Given the description of an element on the screen output the (x, y) to click on. 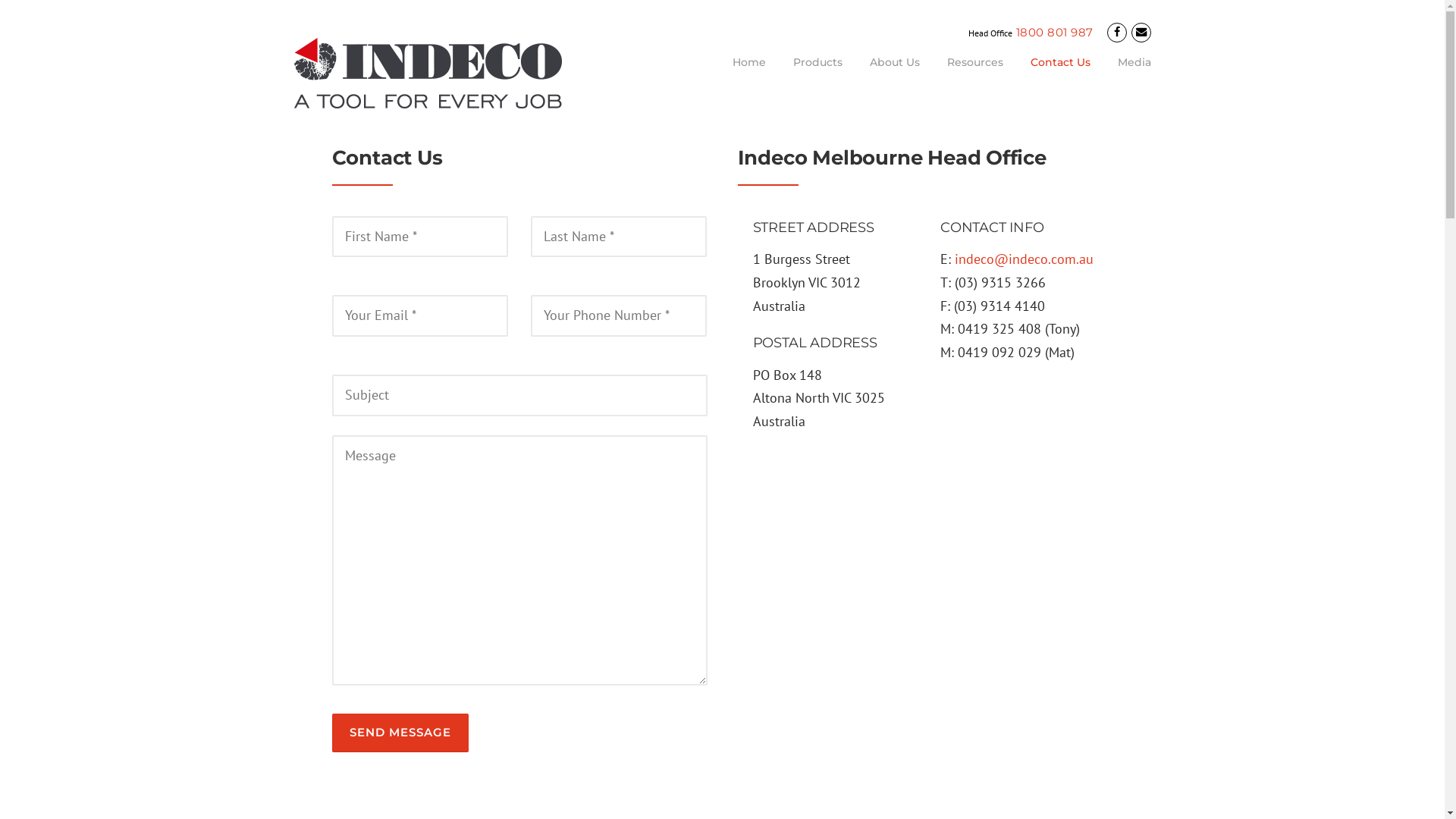
Facebook Element type: hover (1116, 31)
Email Element type: hover (1141, 31)
About Us Element type: text (893, 73)
Send Message Element type: text (400, 732)
indeco@indeco.com.au Element type: text (1023, 258)
Resources Element type: text (974, 73)
1800 801 987 Element type: text (1054, 32)
Indeco Element type: hover (427, 71)
Media Element type: text (1127, 73)
Home Element type: text (748, 73)
Products Element type: text (817, 73)
Contact Us Element type: text (1059, 73)
